Given the description of an element on the screen output the (x, y) to click on. 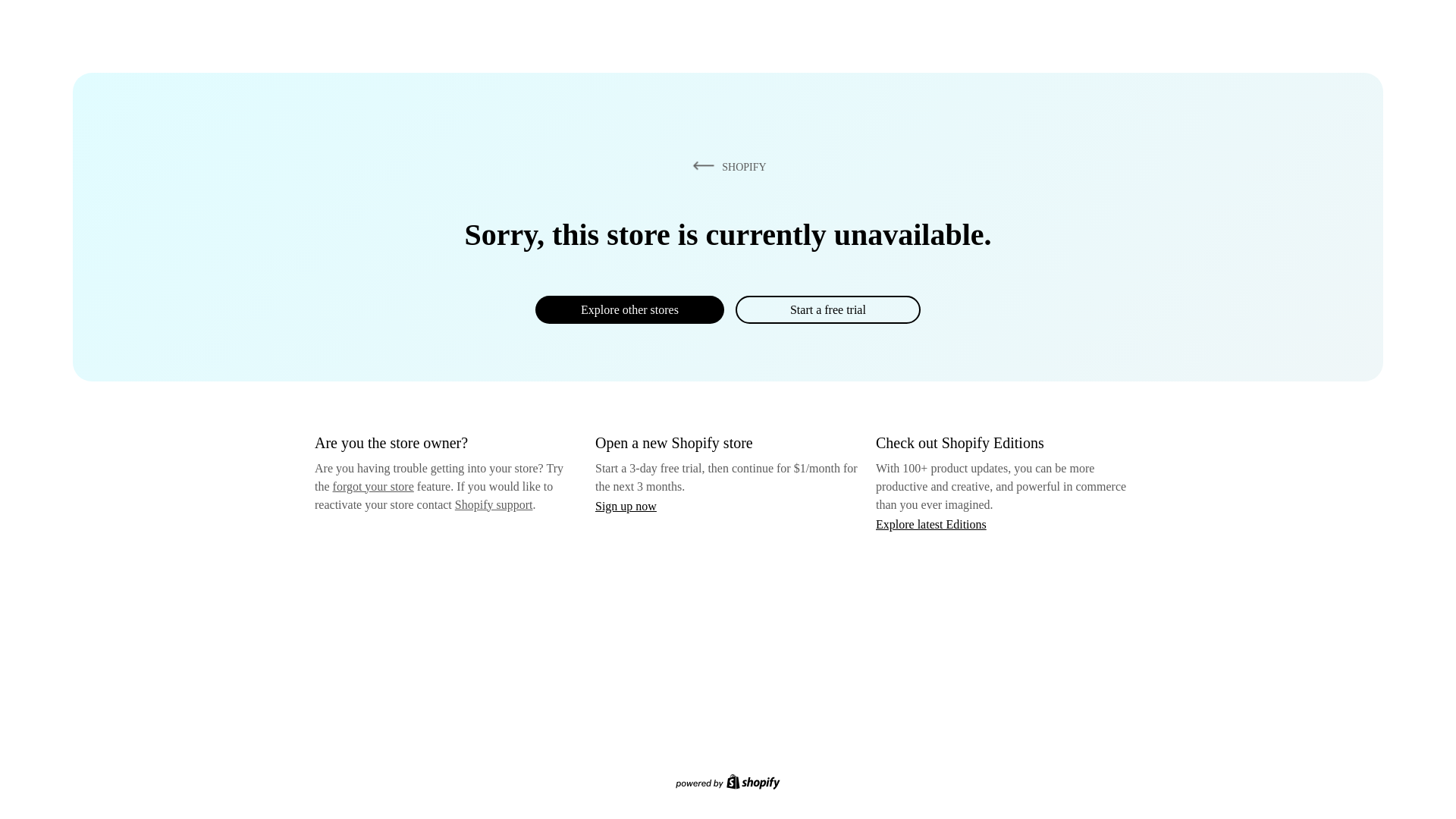
Shopify support (493, 504)
SHOPIFY (726, 166)
Explore other stores (629, 309)
Start a free trial (827, 309)
forgot your store (373, 486)
Explore latest Editions (931, 523)
Sign up now (625, 505)
